Given the description of an element on the screen output the (x, y) to click on. 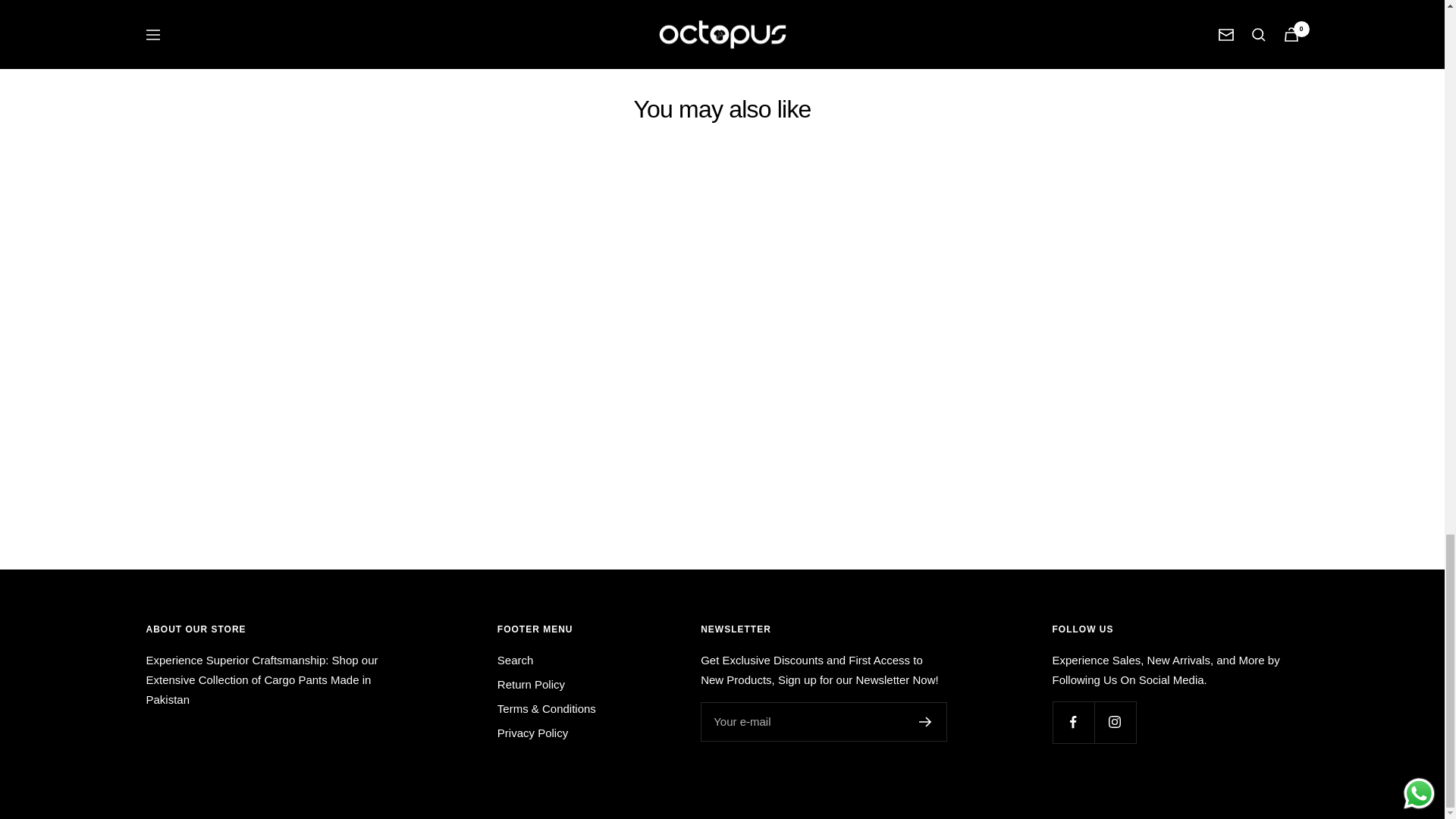
Register (924, 721)
